Given the description of an element on the screen output the (x, y) to click on. 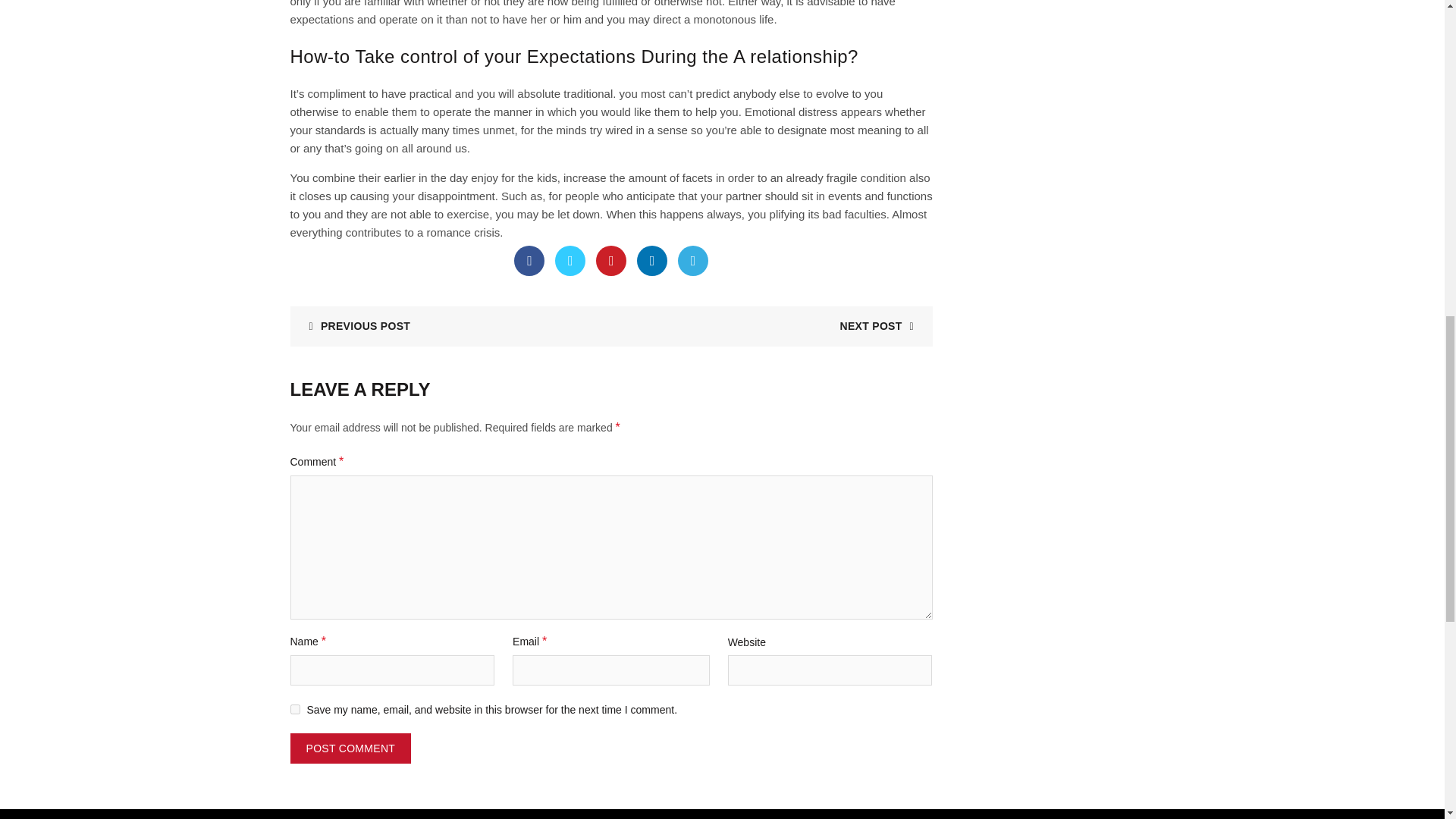
Post Comment (349, 748)
yes (294, 709)
